Given the description of an element on the screen output the (x, y) to click on. 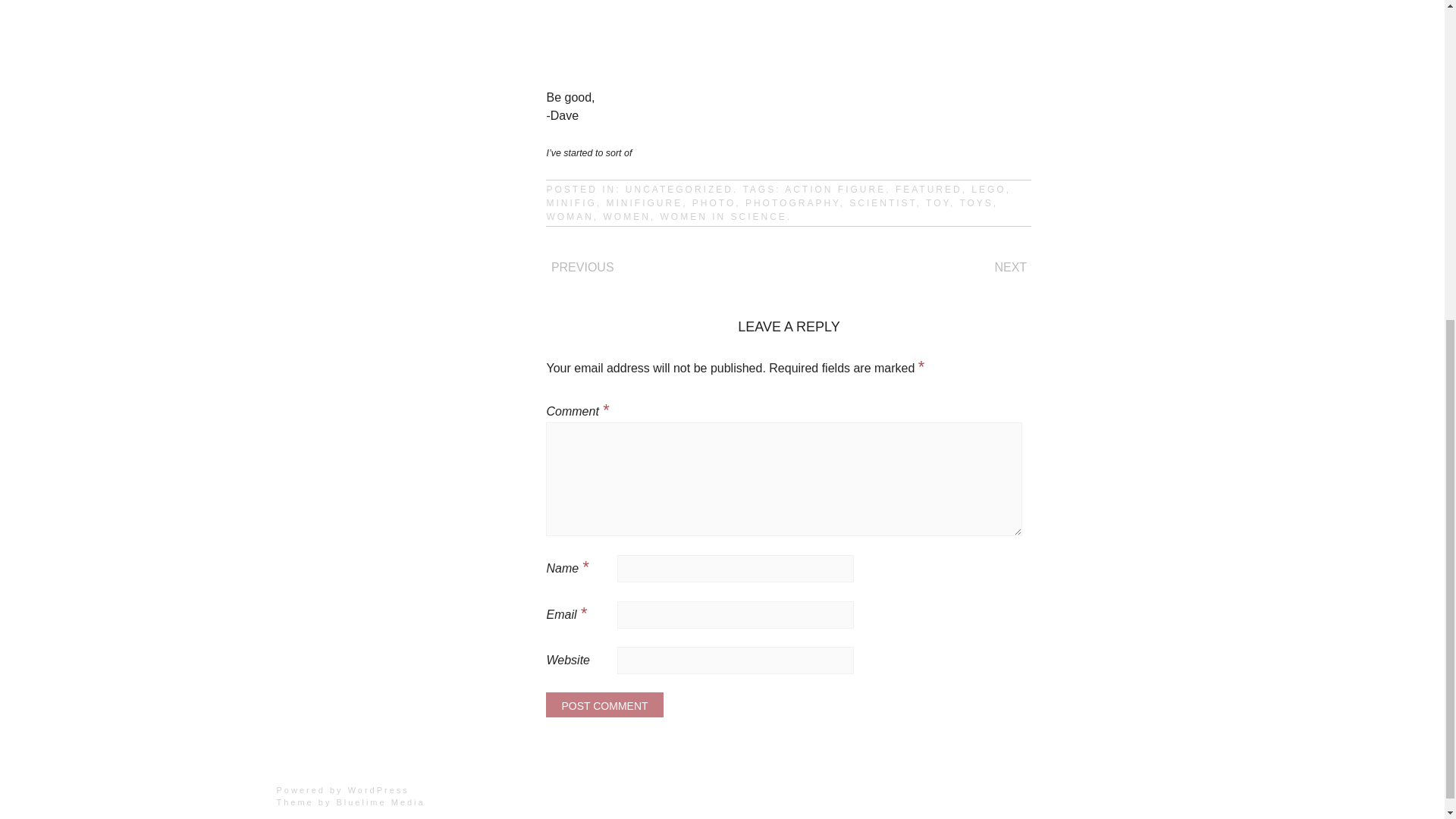
TOY (938, 203)
Bluelime Media (380, 801)
MINIFIG (570, 203)
PHOTO (714, 203)
Post Comment (604, 704)
WOMEN (625, 216)
PREVIOUS (582, 267)
UNCATEGORIZED (679, 189)
MINIFIGURE (643, 203)
SCIENTIST (881, 203)
